Given the description of an element on the screen output the (x, y) to click on. 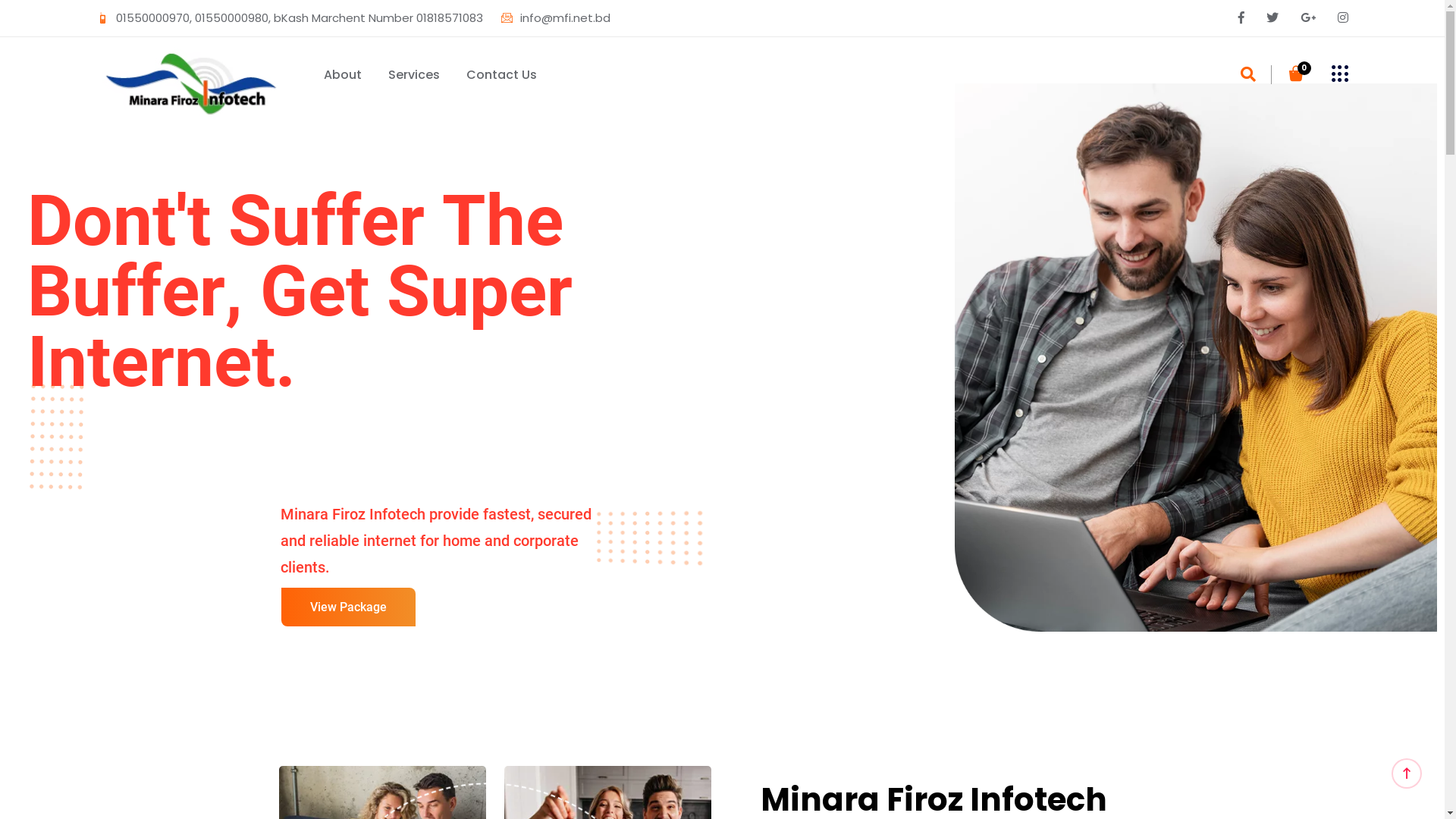
Contact Us Element type: text (500, 74)
Services Element type: text (413, 74)
01550000970, 01550000980, bKash Marchent Number 01818571083 Element type: text (290, 17)
info@mfi.net.bd Element type: text (554, 17)
View Package Element type: text (347, 606)
About Element type: text (341, 74)
0 Element type: text (1295, 74)
